Given the description of an element on the screen output the (x, y) to click on. 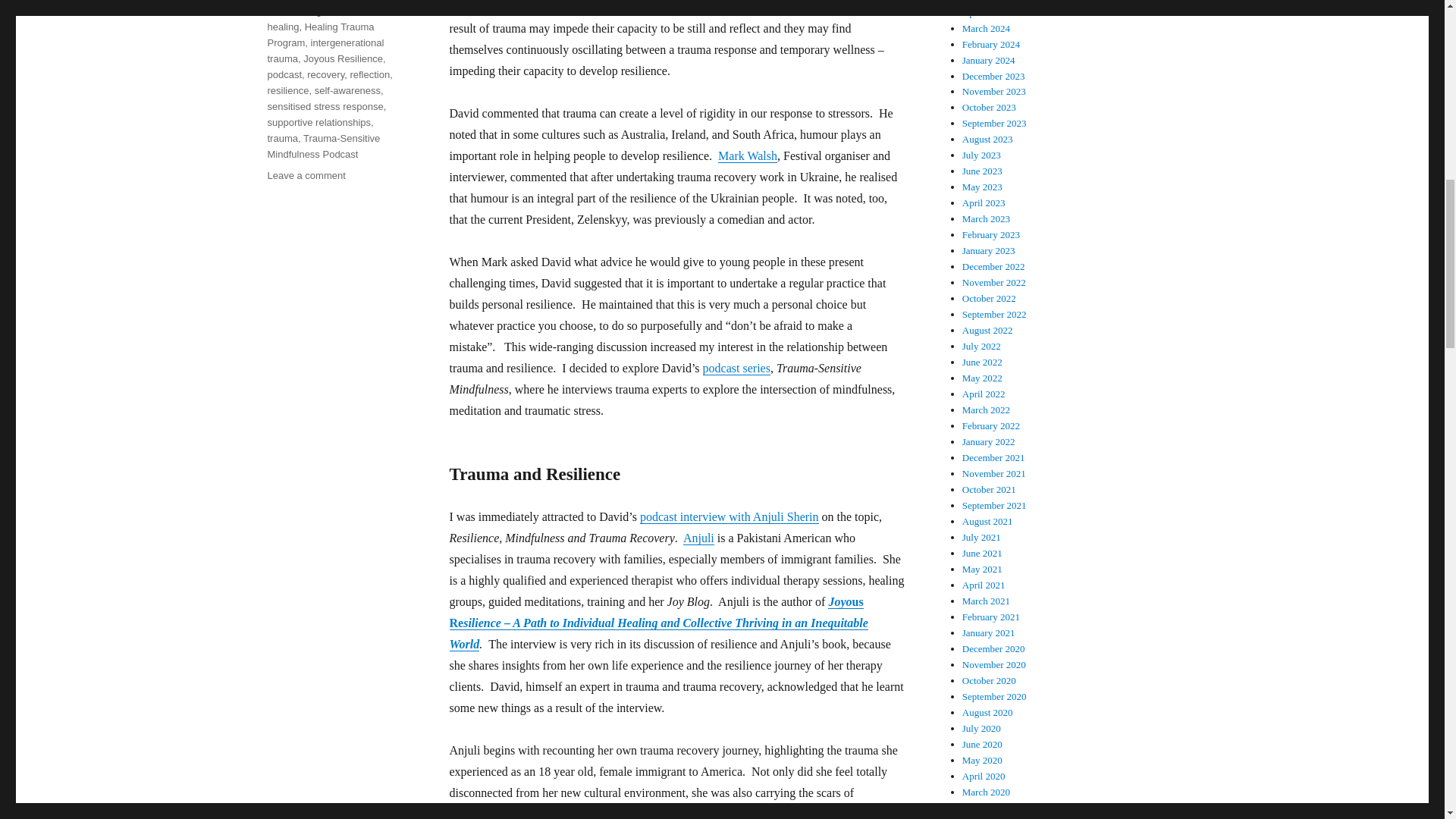
podcast series (736, 367)
podcast interview with Anjuli Sherin (729, 516)
Mark Walsh (747, 155)
Anjuli (698, 537)
intergenerational trauma (507, 813)
